Given the description of an element on the screen output the (x, y) to click on. 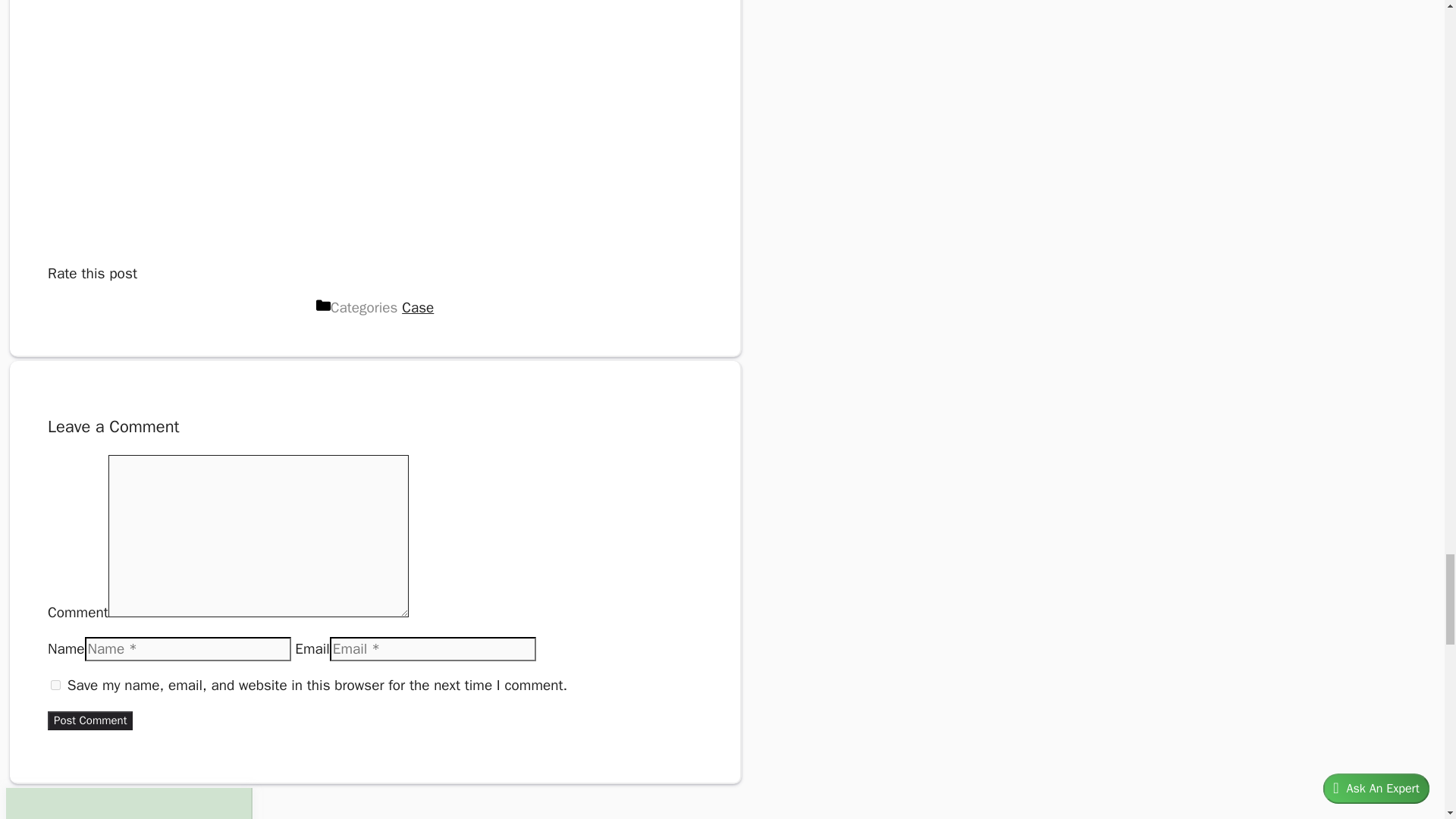
yes (55, 685)
Post Comment (90, 720)
Post Comment (90, 720)
Case (417, 307)
